Given the description of an element on the screen output the (x, y) to click on. 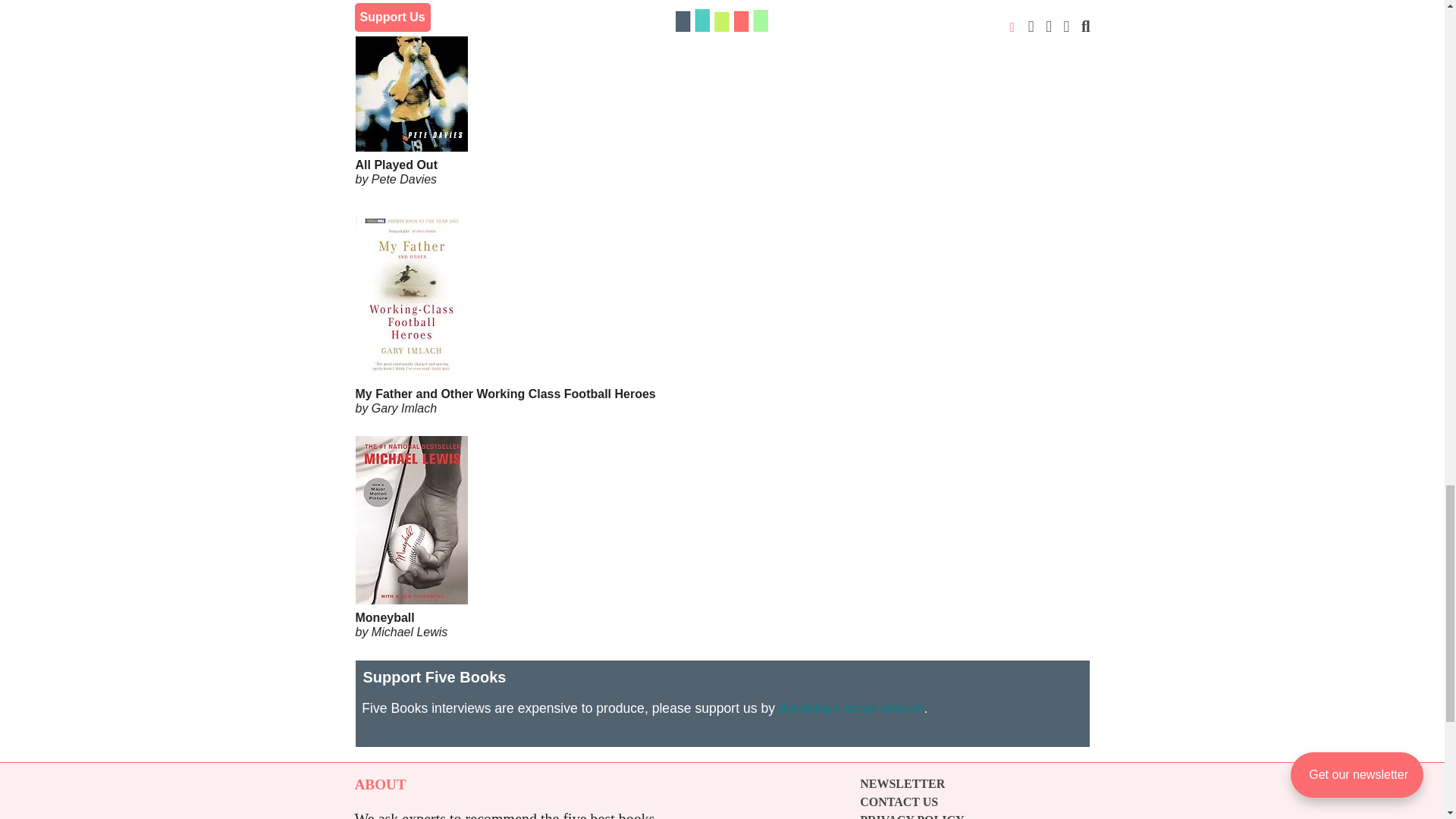
All Played Out (722, 124)
My Father and Other Working Class Football Heroes (722, 352)
Moneyball (722, 577)
